Given the description of an element on the screen output the (x, y) to click on. 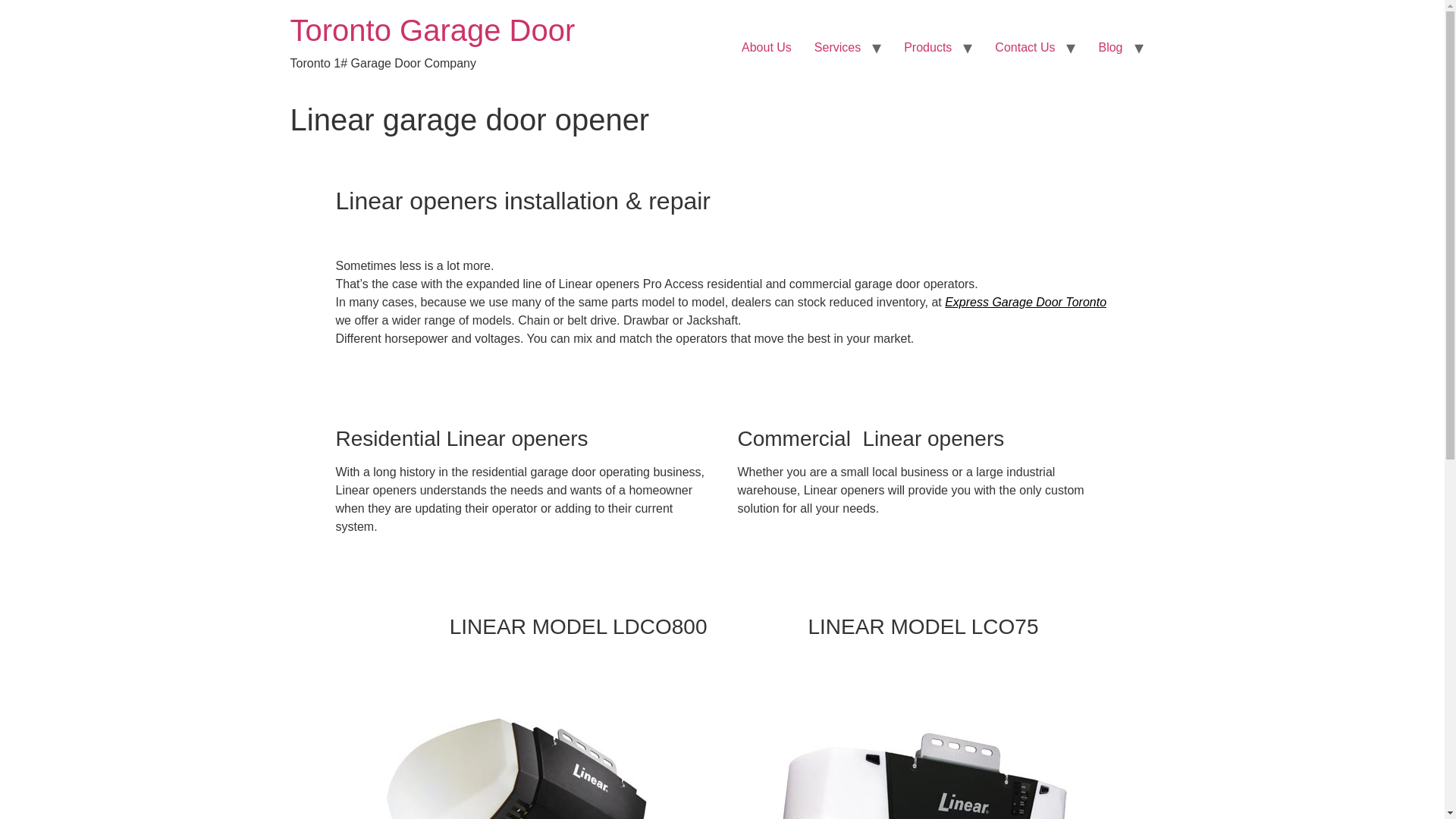
Blog (1110, 47)
Home (432, 29)
Products (927, 47)
About Us (766, 47)
Services (837, 47)
Linear Garage Door Opener (520, 750)
LCO75 (922, 750)
Contact Us (1024, 47)
Express Garage Door Toronto (1025, 301)
Toronto Garage Door (432, 29)
